Given the description of an element on the screen output the (x, y) to click on. 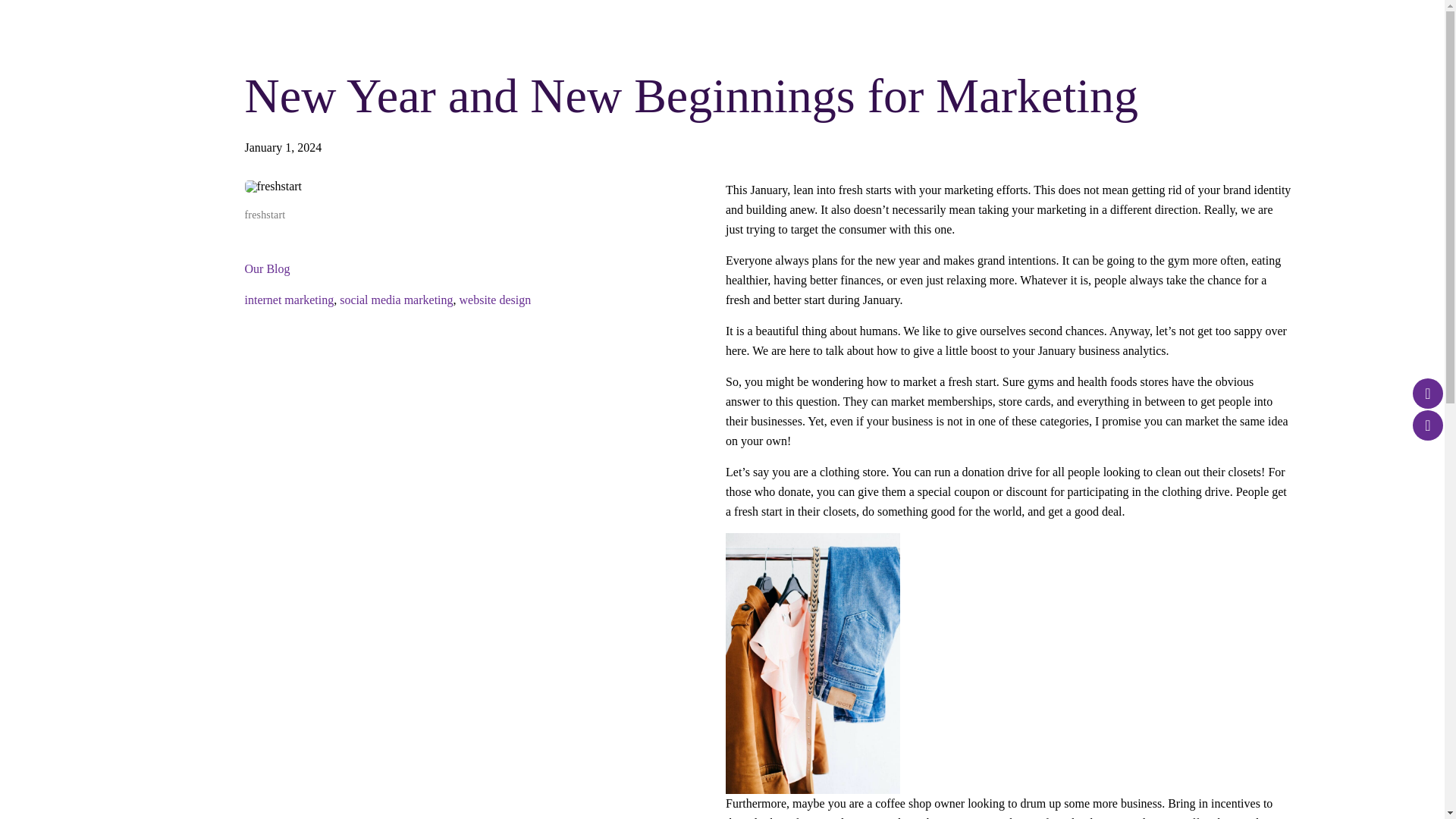
website design (495, 299)
freshstart (272, 186)
internet marketing (288, 299)
Our Blog (266, 268)
social media marketing (395, 299)
